Given the description of an element on the screen output the (x, y) to click on. 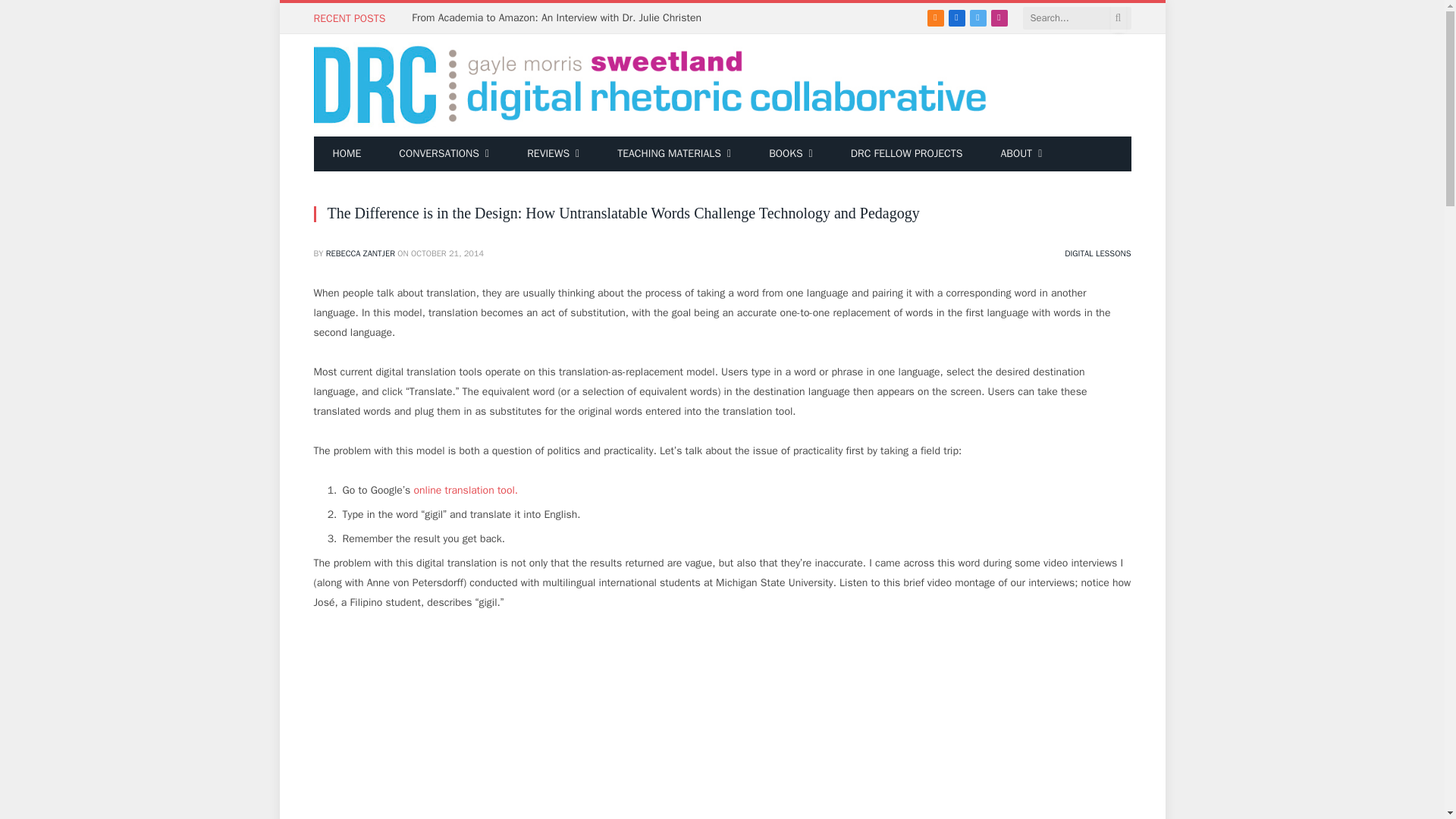
RSS (935, 17)
Instagram (999, 17)
2014-10-21 (446, 253)
CONVERSATIONS (444, 153)
Facebook (957, 17)
Digital Rhetoric Collaborative (650, 85)
REVIEWS (553, 153)
Posts by Rebecca Zantjer (360, 253)
HOME (347, 153)
